Given the description of an element on the screen output the (x, y) to click on. 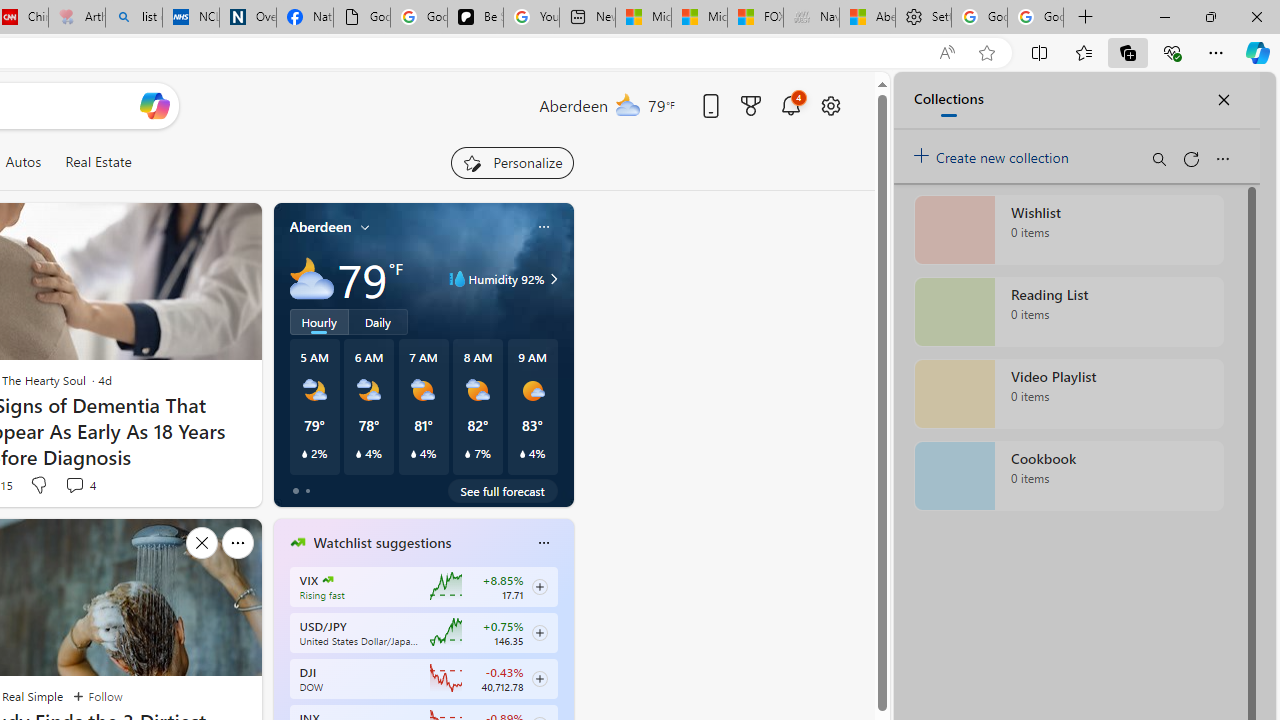
CBOE Market Volatility Index (328, 579)
Google Analytics Opt-out Browser Add-on Download Page (362, 17)
